Given the description of an element on the screen output the (x, y) to click on. 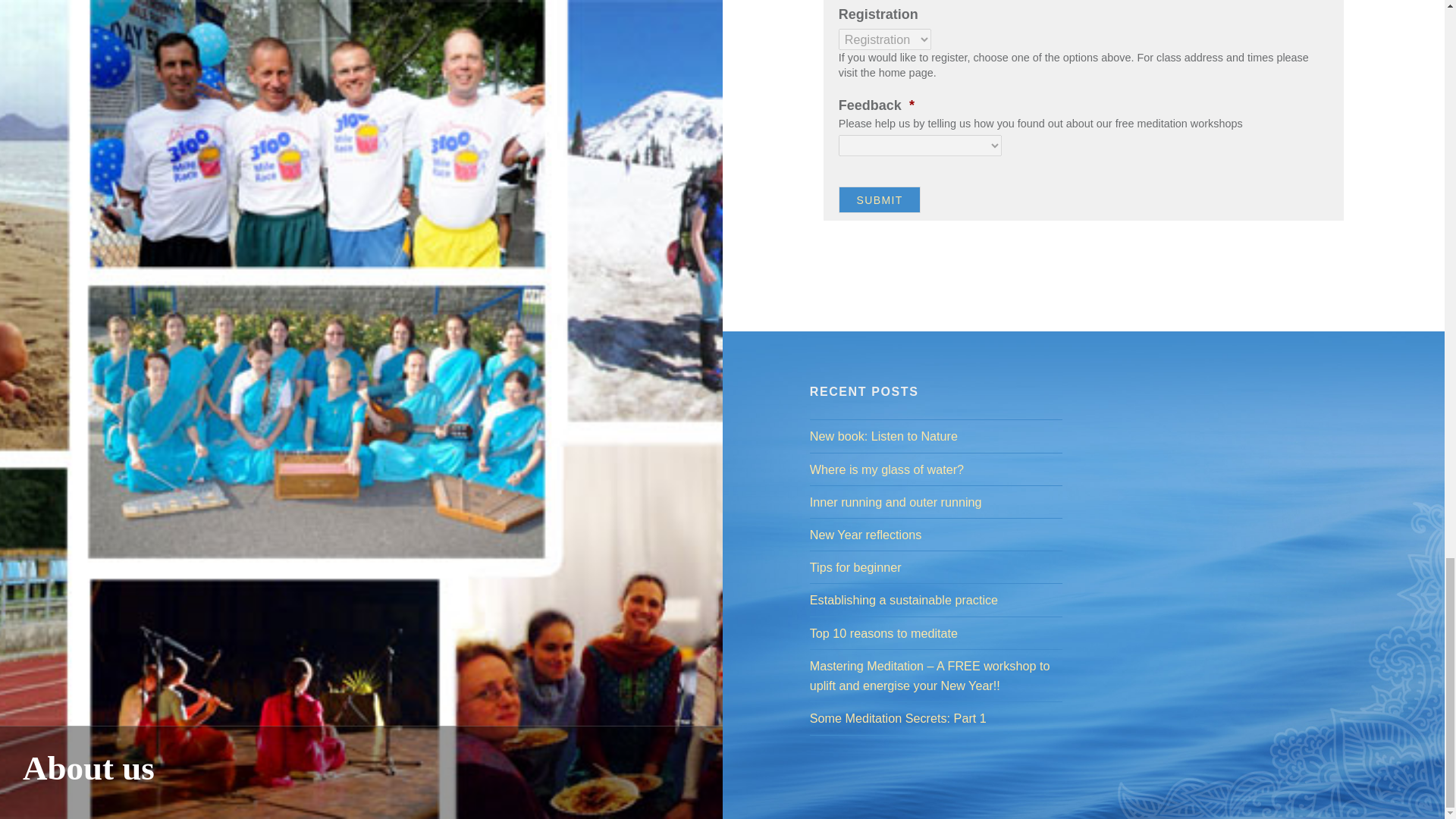
Some Meditation Secrets: Part 1 (935, 718)
Establishing a sustainable practice (935, 599)
Tips for beginner (935, 567)
Submit (879, 199)
Where is my glass of water? (935, 469)
New Year reflections (935, 534)
Inner running and outer running (935, 501)
Top 10 reasons to meditate (935, 632)
New book: Listen to Nature (935, 435)
Submit (879, 199)
